Given the description of an element on the screen output the (x, y) to click on. 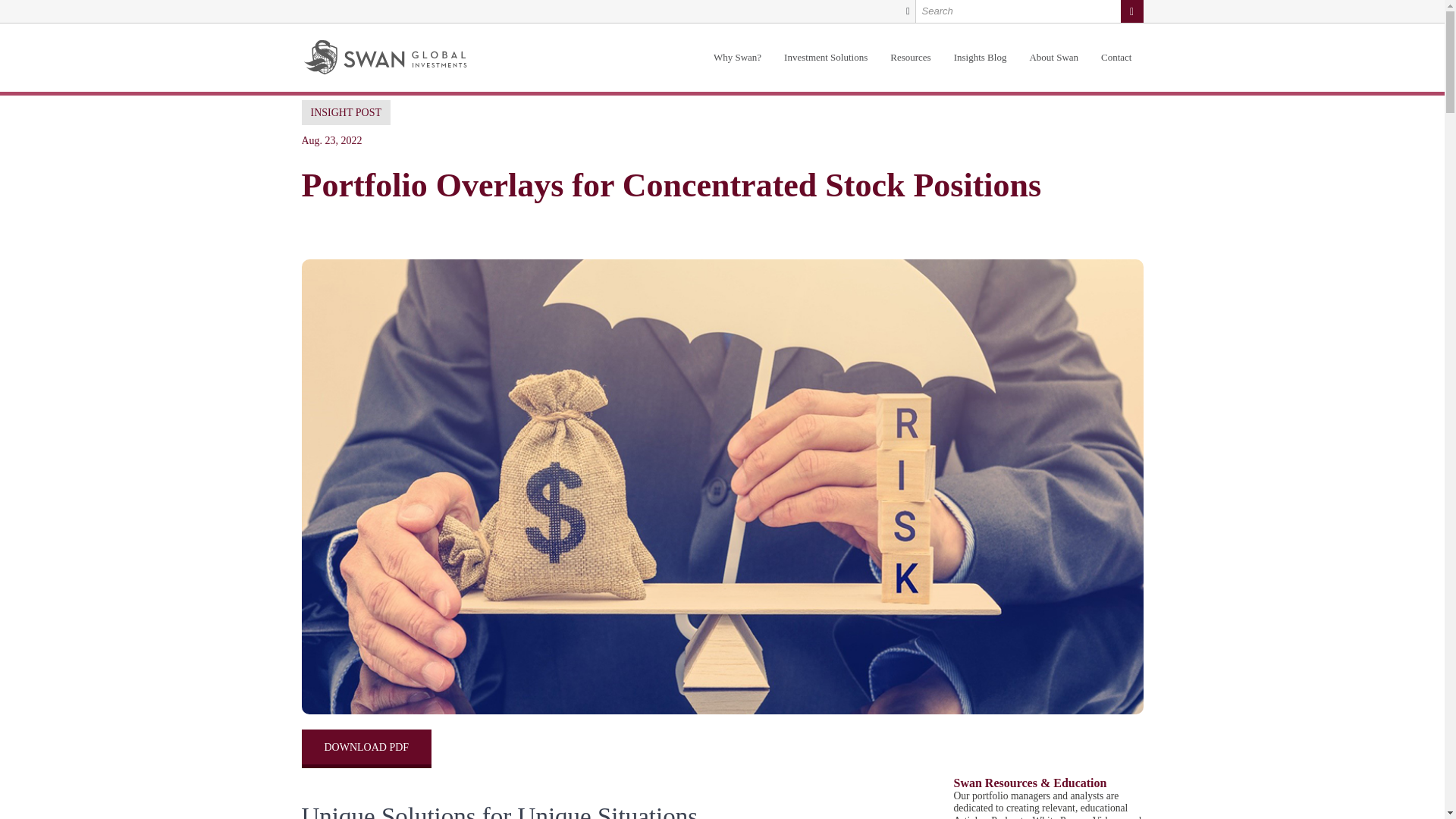
Search for: (1028, 11)
Why Swan? (737, 57)
Investment Solutions (826, 57)
Resources (910, 57)
Insights Blog (979, 57)
s (1131, 11)
About Swan (1053, 57)
